Given the description of an element on the screen output the (x, y) to click on. 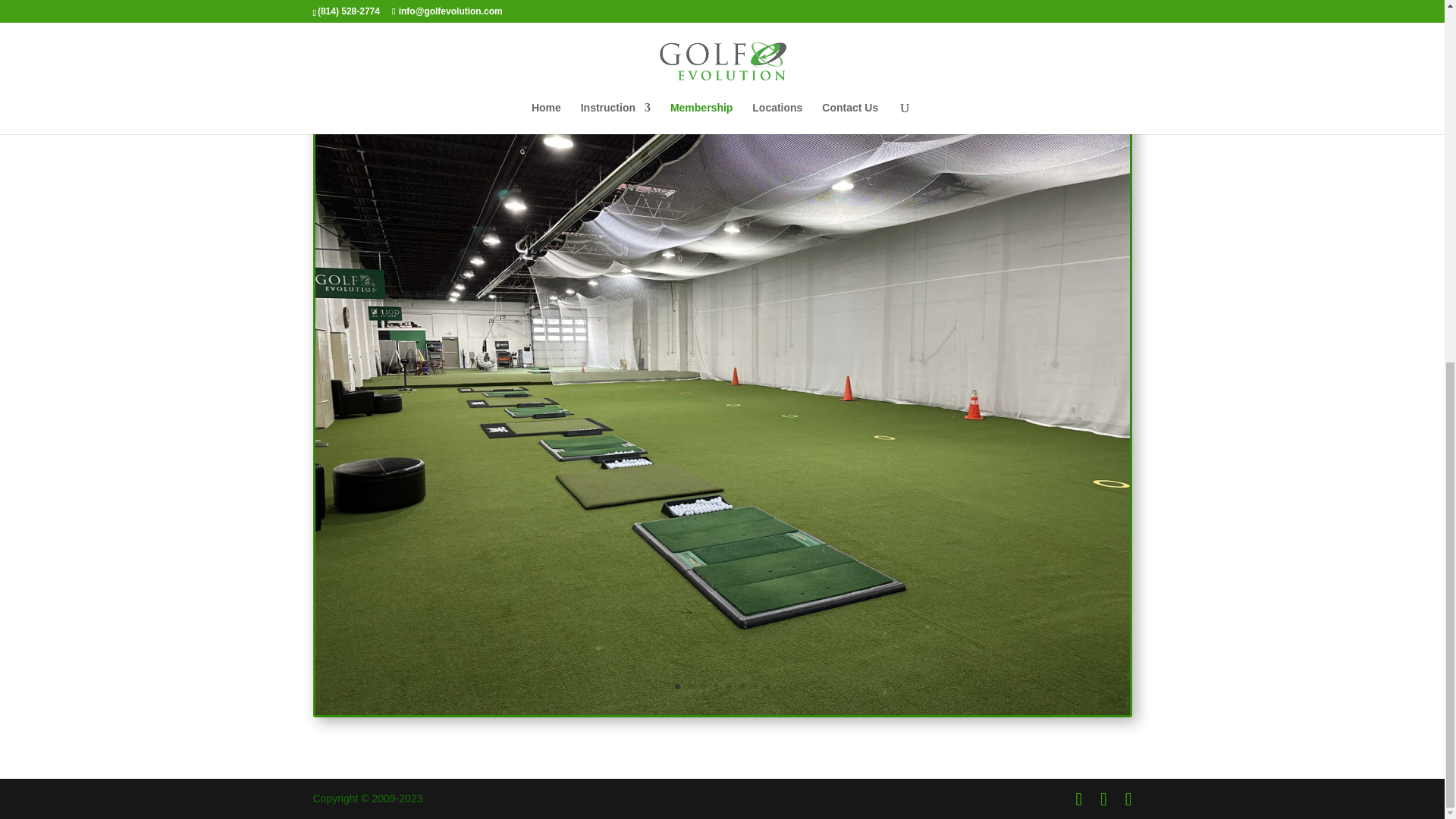
3 (703, 686)
2 (690, 686)
